Given the description of an element on the screen output the (x, y) to click on. 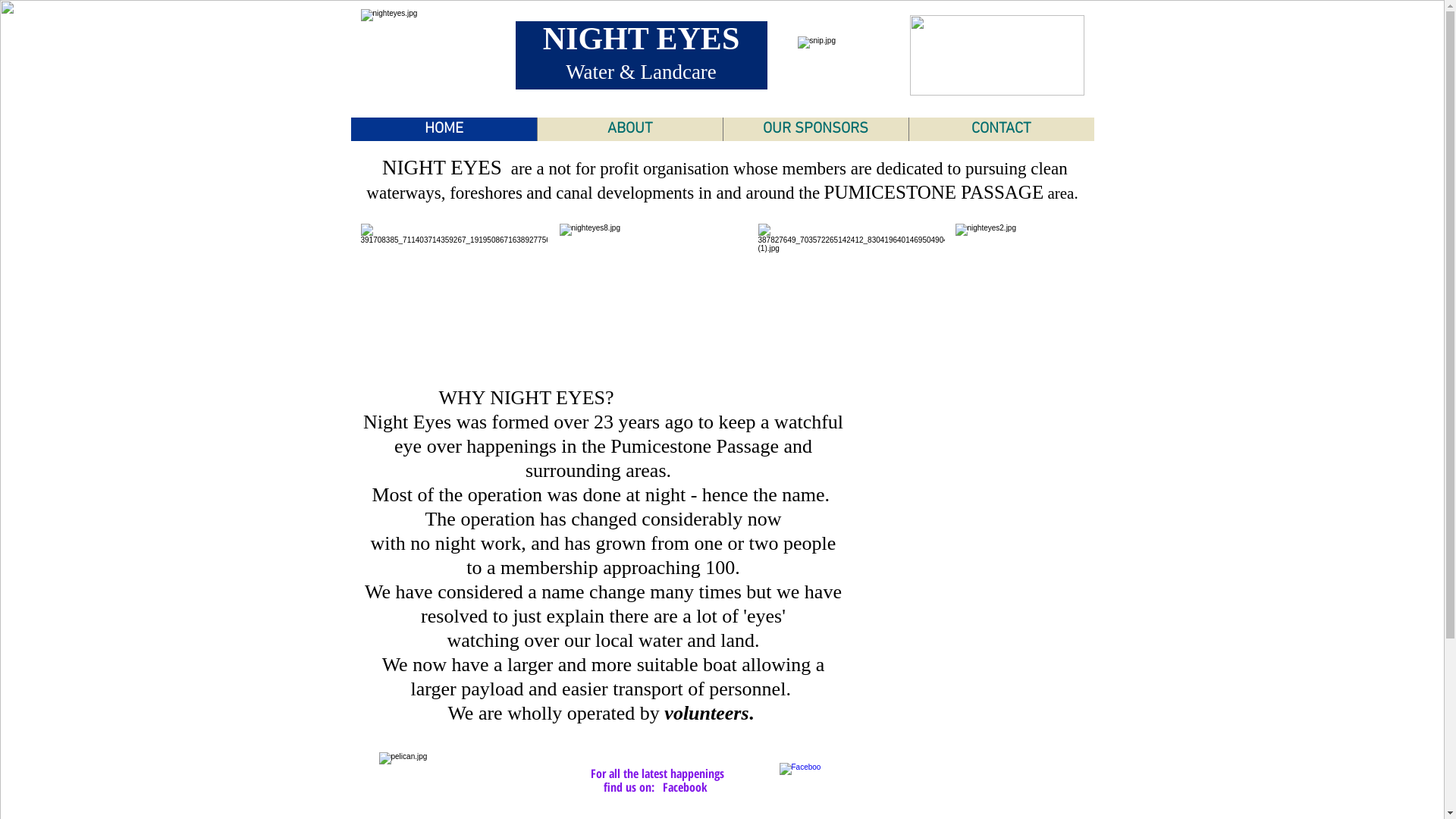
CONTACT Element type: text (1001, 129)
ABOUT Element type: text (629, 129)
NIGHT EYES Element type: text (641, 38)
OUR SPONSORS Element type: text (814, 129)
HOME Element type: text (443, 129)
